Given the description of an element on the screen output the (x, y) to click on. 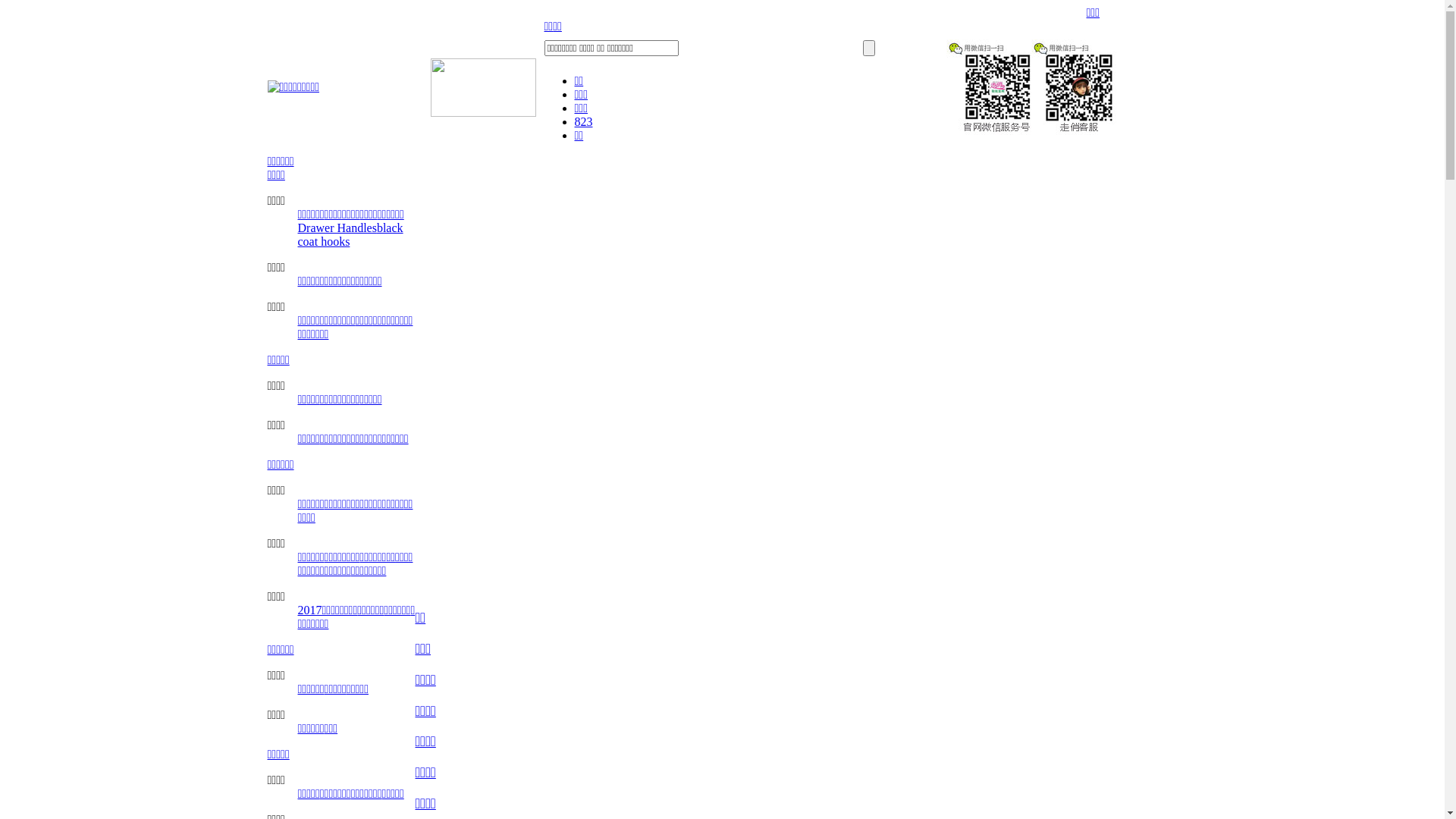
Drawer Handles Element type: text (336, 227)
823 Element type: text (583, 121)
black coat hooks Element type: text (349, 234)
